Given the description of an element on the screen output the (x, y) to click on. 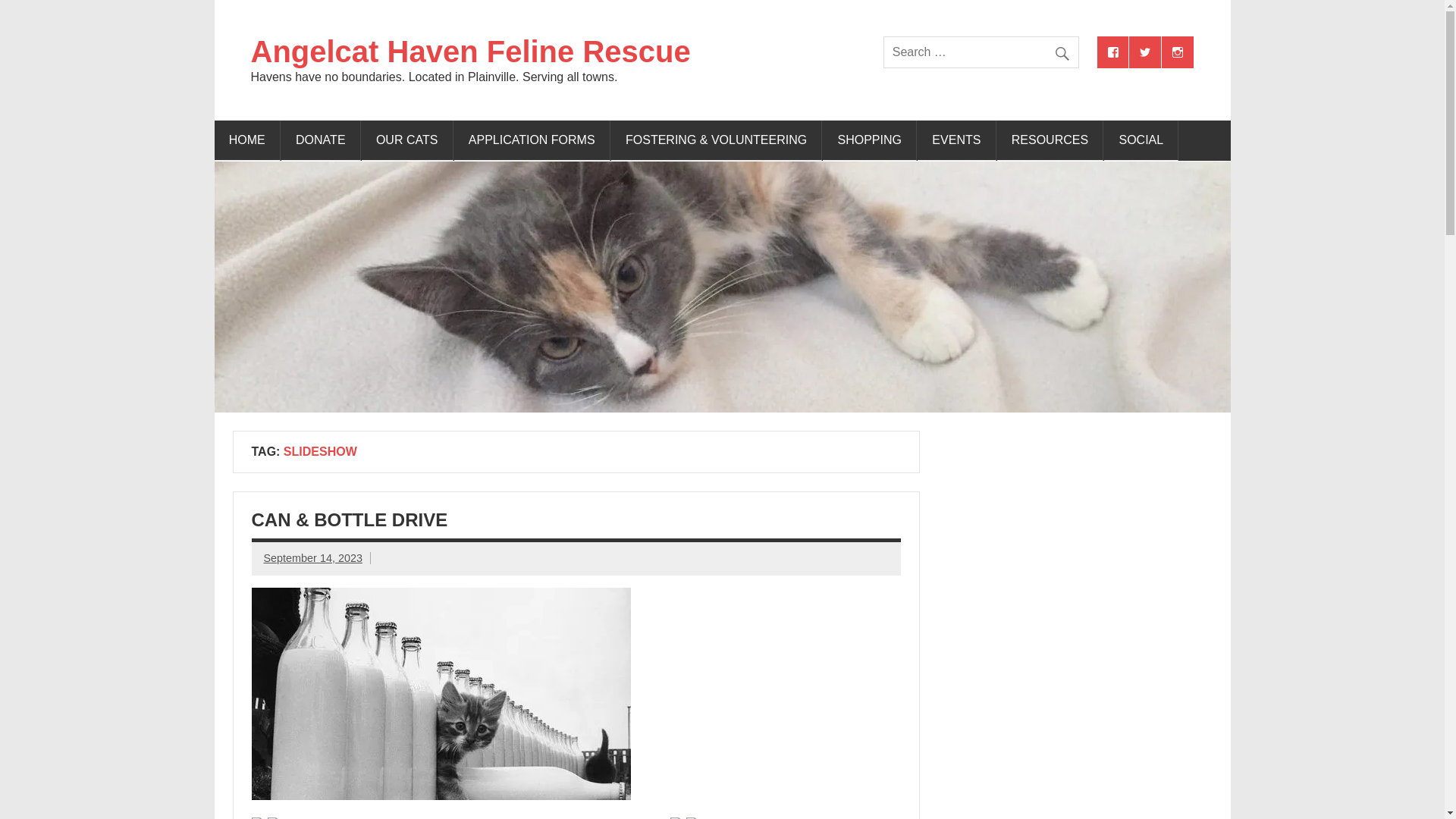
HOME (246, 139)
2:40 pm (312, 558)
DONATE (321, 139)
APPLICATION FORMS (532, 139)
OUR CATS (406, 139)
EVENTS (956, 139)
SHOPPING (869, 139)
RESOURCES (1050, 139)
Angelcat Haven Feline Rescue (470, 51)
